Given the description of an element on the screen output the (x, y) to click on. 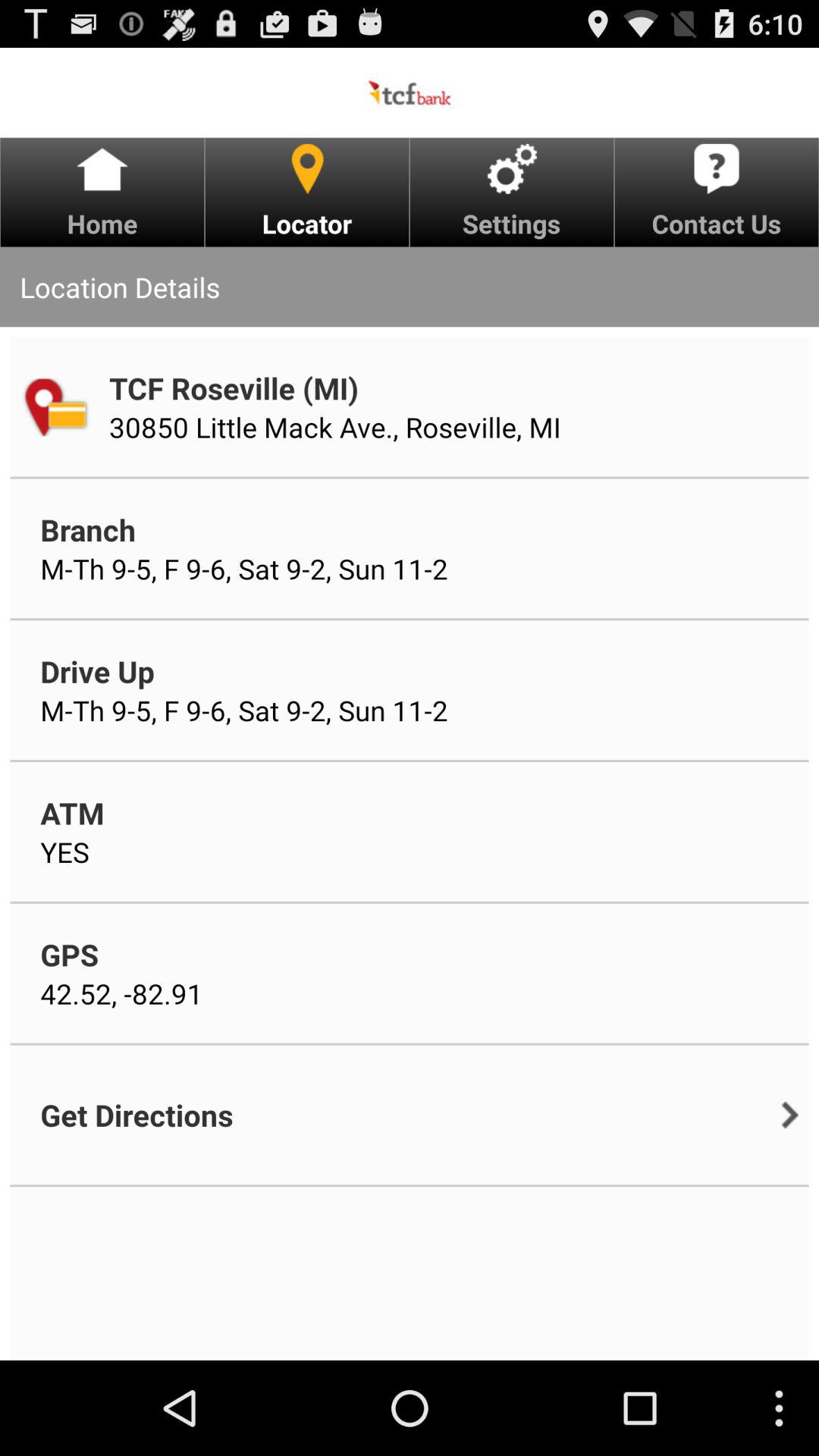
turn on 42 52 82 item (121, 993)
